Given the description of an element on the screen output the (x, y) to click on. 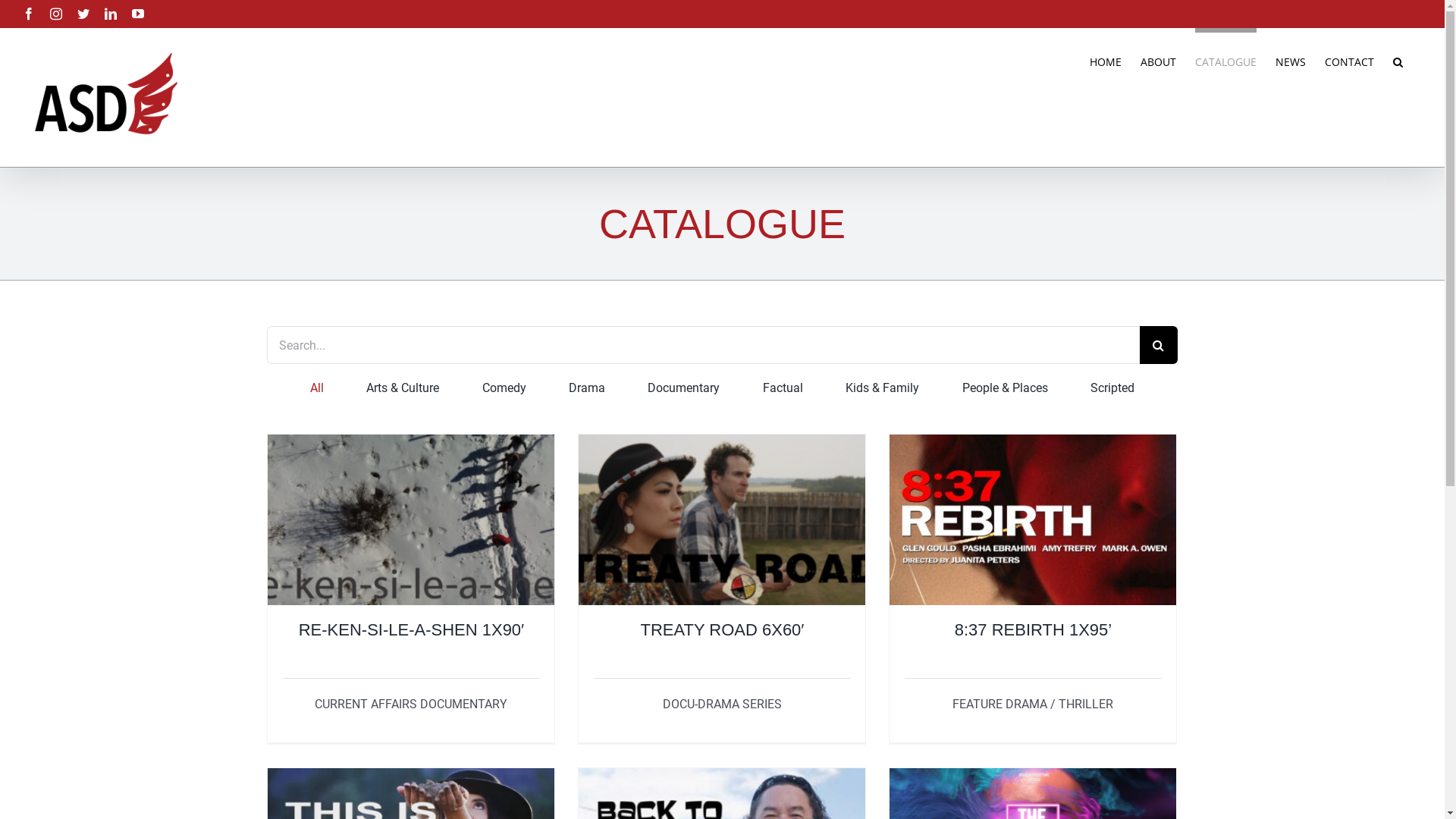
Facebook Element type: text (28, 13)
Kids & Family Element type: text (882, 388)
ABOUT Element type: text (1158, 59)
Comedy Element type: text (504, 388)
HOME Element type: text (1105, 59)
NEWS Element type: text (1290, 59)
Documentary Element type: text (683, 388)
Arts & Culture Element type: text (402, 388)
CATALOGUE Element type: text (1225, 59)
Drama Element type: text (586, 388)
Twitter Element type: text (83, 13)
LinkedIn Element type: text (110, 13)
CONTACT Element type: text (1349, 59)
Search Element type: hover (1397, 59)
People & Places Element type: text (1005, 388)
Instagram Element type: text (56, 13)
Factual Element type: text (782, 388)
YouTube Element type: text (137, 13)
All Element type: text (316, 388)
Scripted Element type: text (1112, 388)
